Given the description of an element on the screen output the (x, y) to click on. 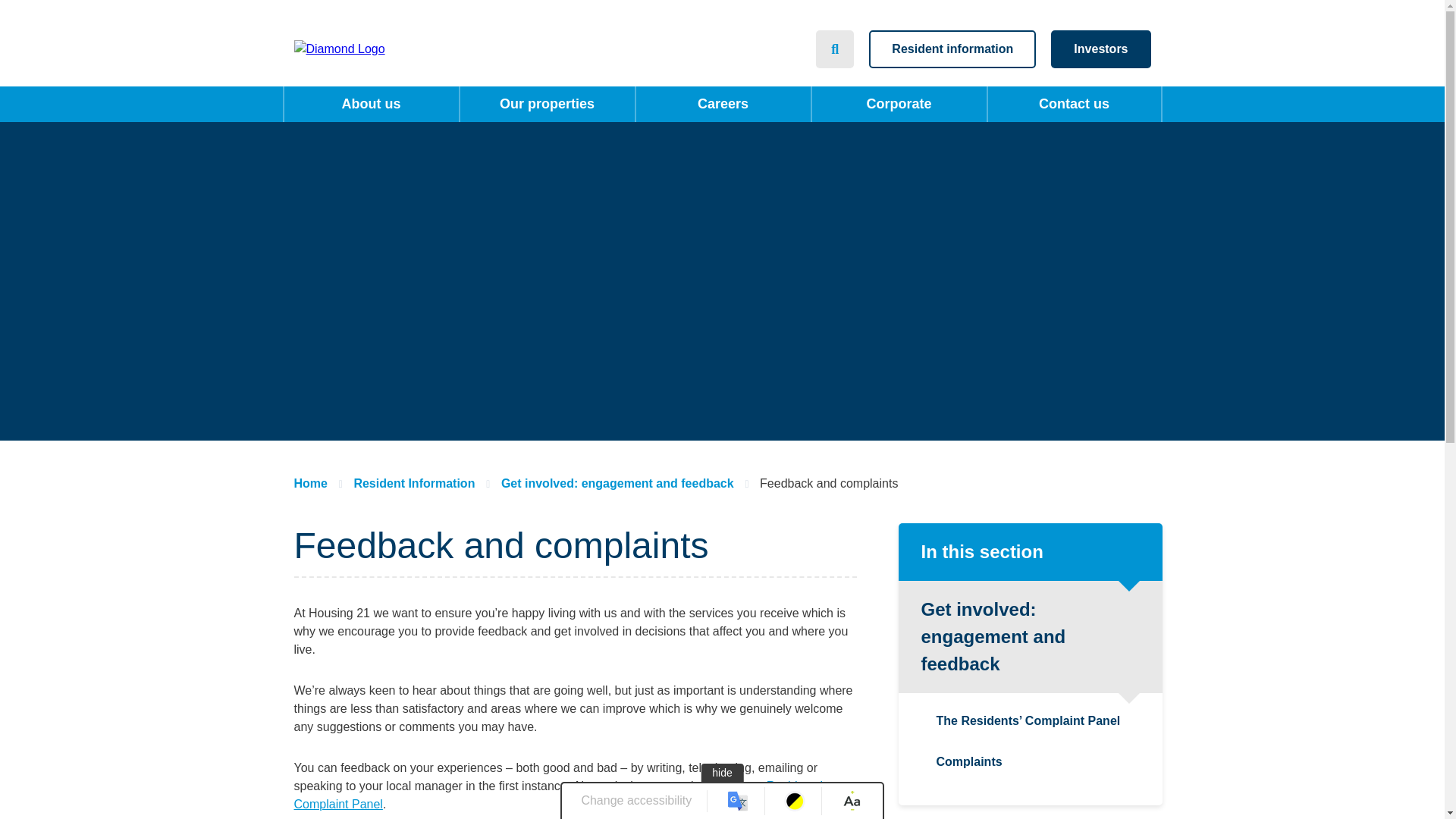
Home (393, 49)
Careers (721, 104)
Corporate (897, 104)
Our properties (546, 104)
About us (370, 104)
About us (370, 104)
Contact us (1073, 104)
TOGGLE SITE SEARCH (834, 48)
Resident information (952, 48)
Our properties (546, 104)
